Given the description of an element on the screen output the (x, y) to click on. 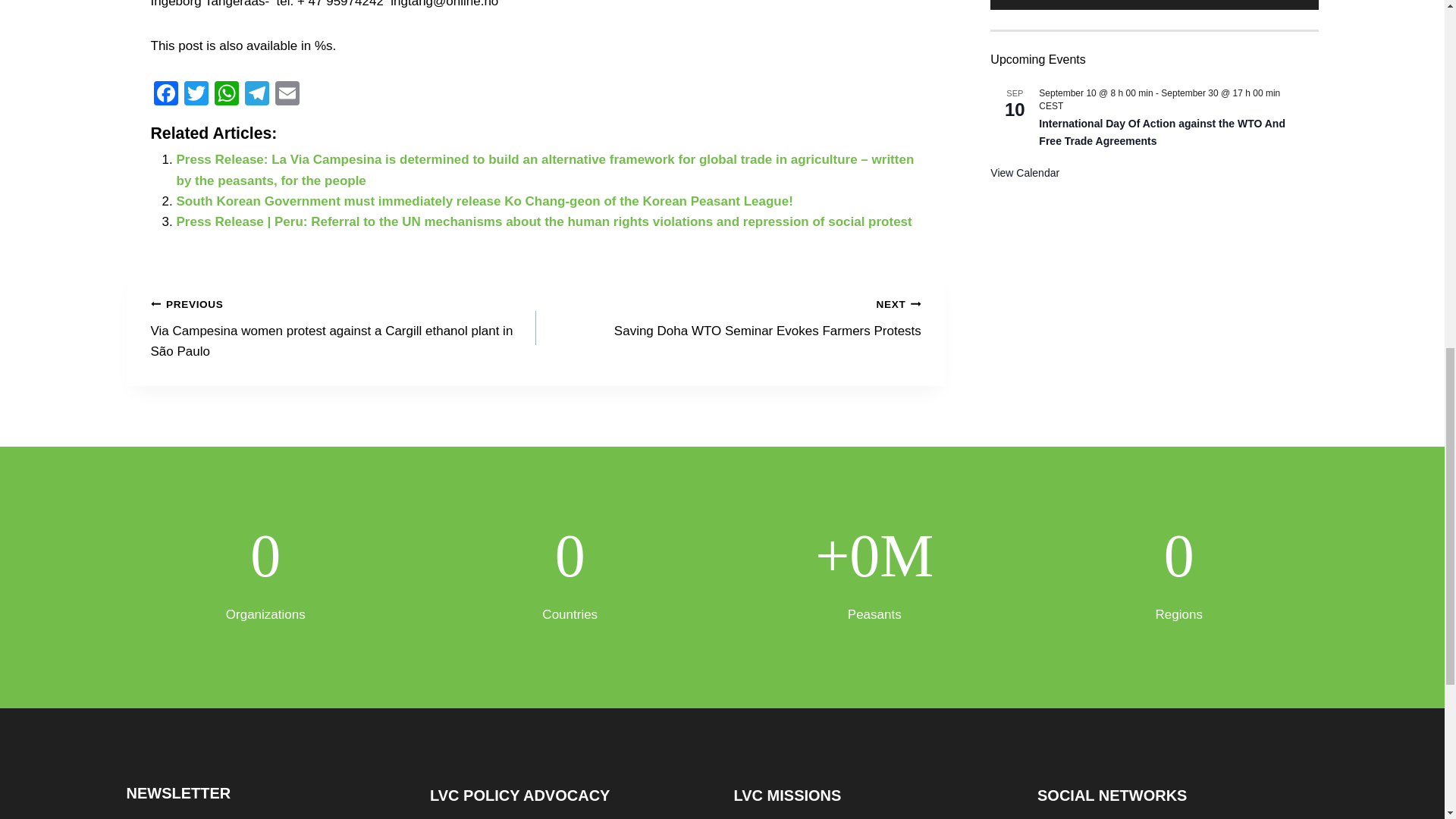
WhatsApp (226, 94)
Facebook (164, 94)
Twitter (195, 94)
View more events. (1024, 69)
Email (285, 94)
Telegram (255, 94)
